Given the description of an element on the screen output the (x, y) to click on. 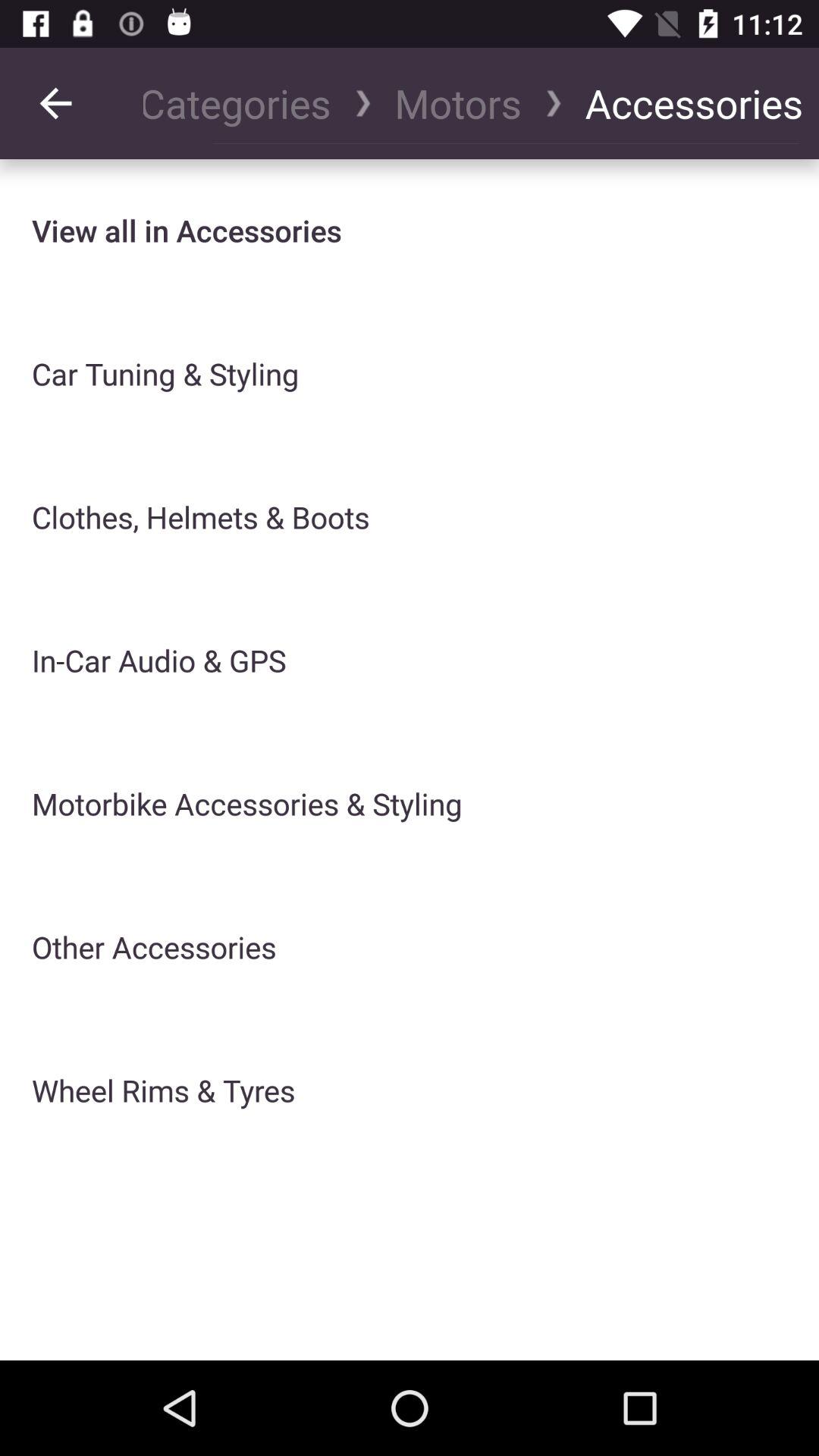
launch wheel rims & tyres at the bottom left corner (163, 1090)
